Given the description of an element on the screen output the (x, y) to click on. 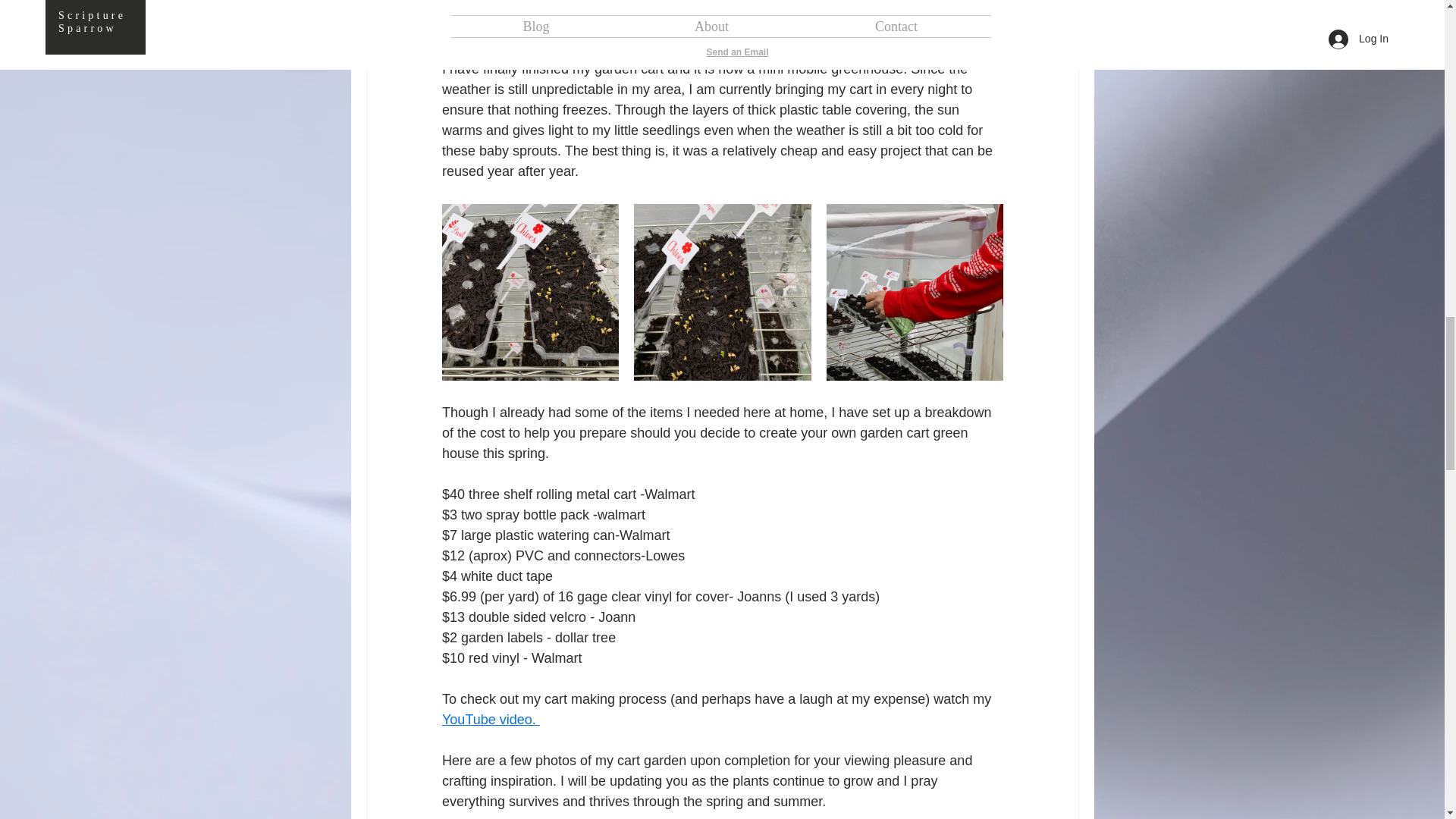
YouTube video.  (489, 719)
